Given the description of an element on the screen output the (x, y) to click on. 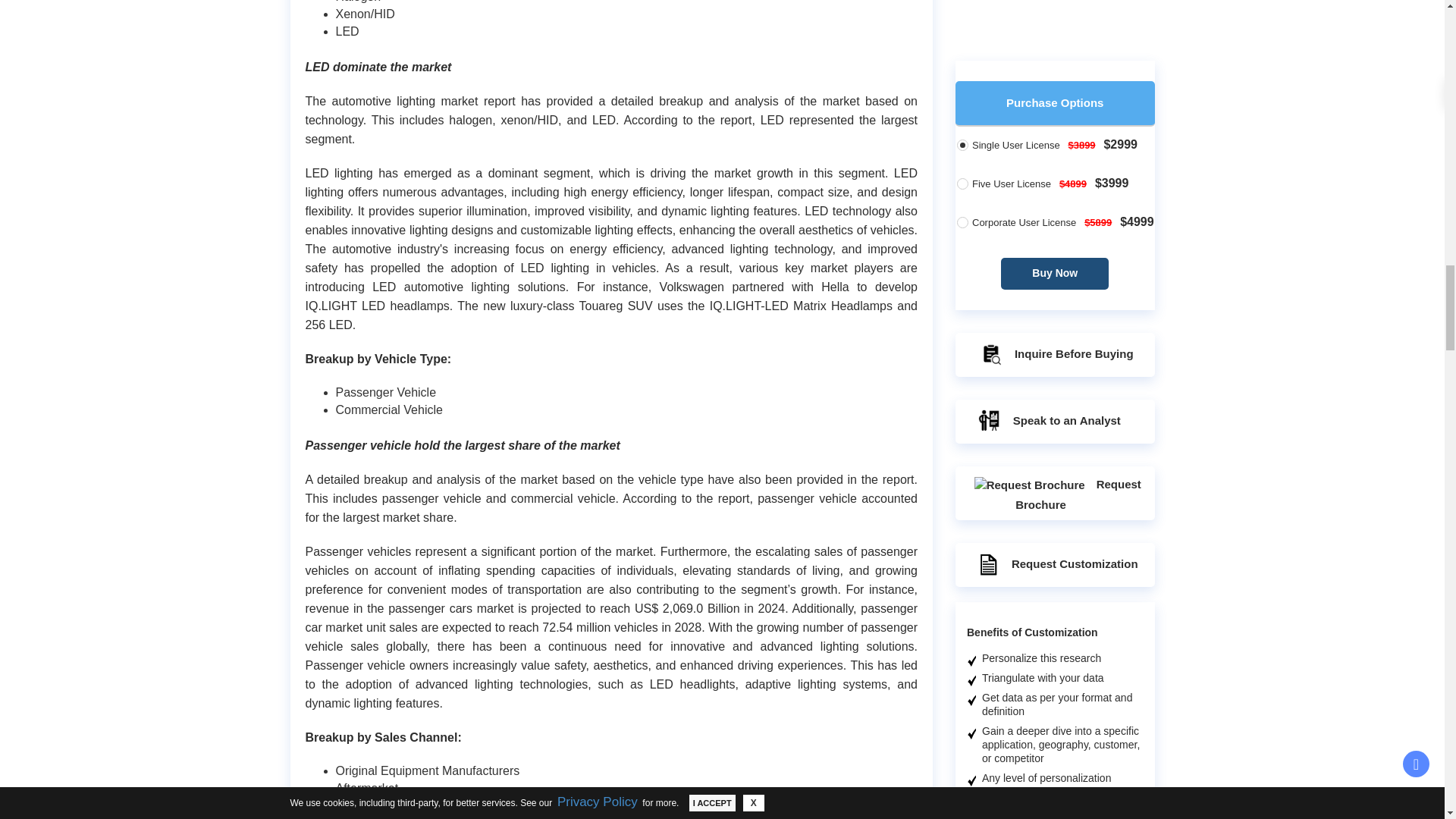
Know more (1081, 201)
Know more (1081, 746)
Know more (1081, 474)
